Given the description of an element on the screen output the (x, y) to click on. 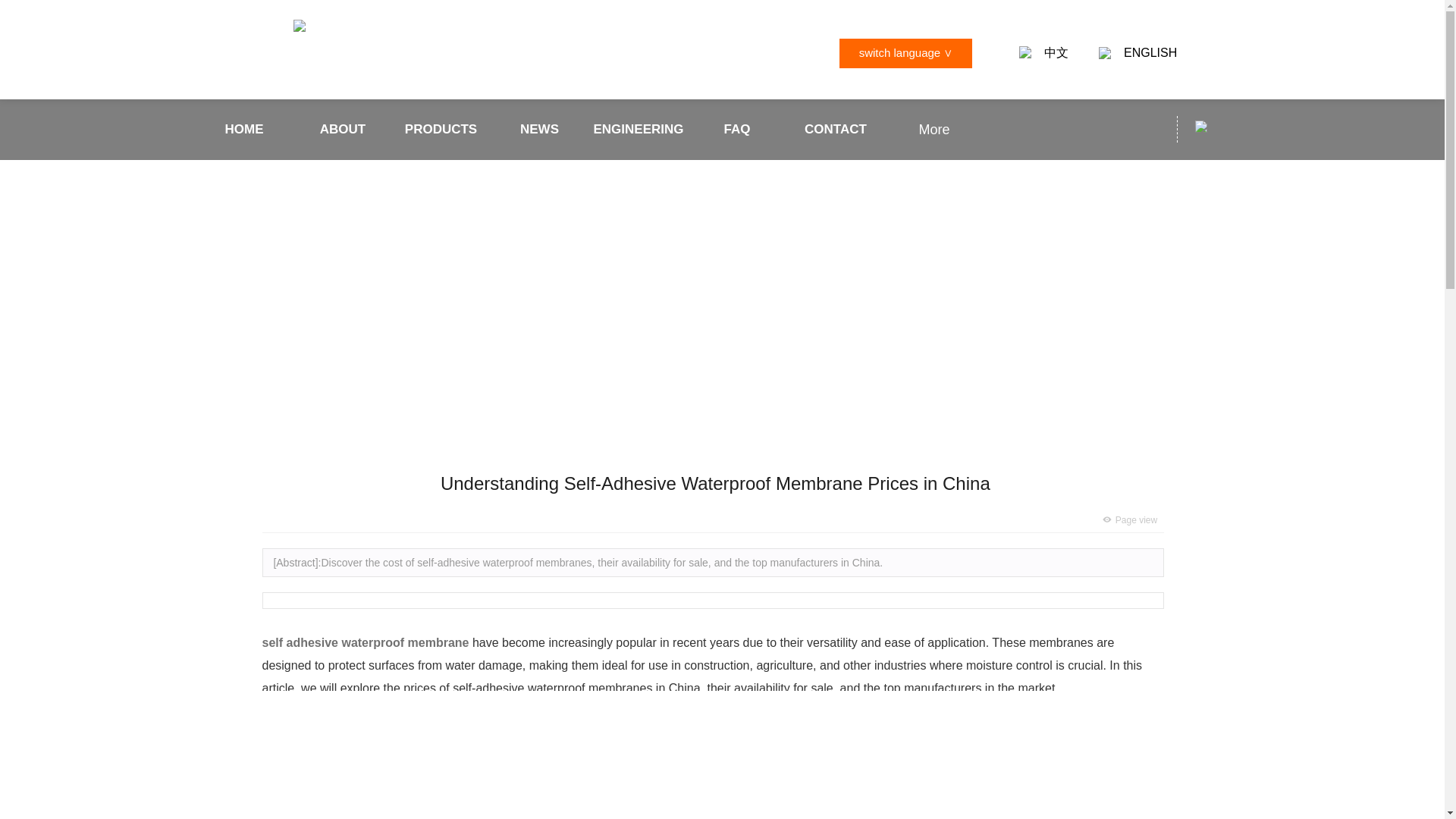
self adhesive waterproof membrane (365, 642)
CONTACT (836, 129)
CN (1024, 51)
PRODUCTS (440, 129)
HOME (244, 129)
NEWS (539, 129)
More (933, 129)
CN (1201, 126)
ENGLISH (1150, 53)
FAQ (737, 129)
logo (298, 25)
ENGINEERING (638, 129)
ABOUT (342, 129)
